Given the description of an element on the screen output the (x, y) to click on. 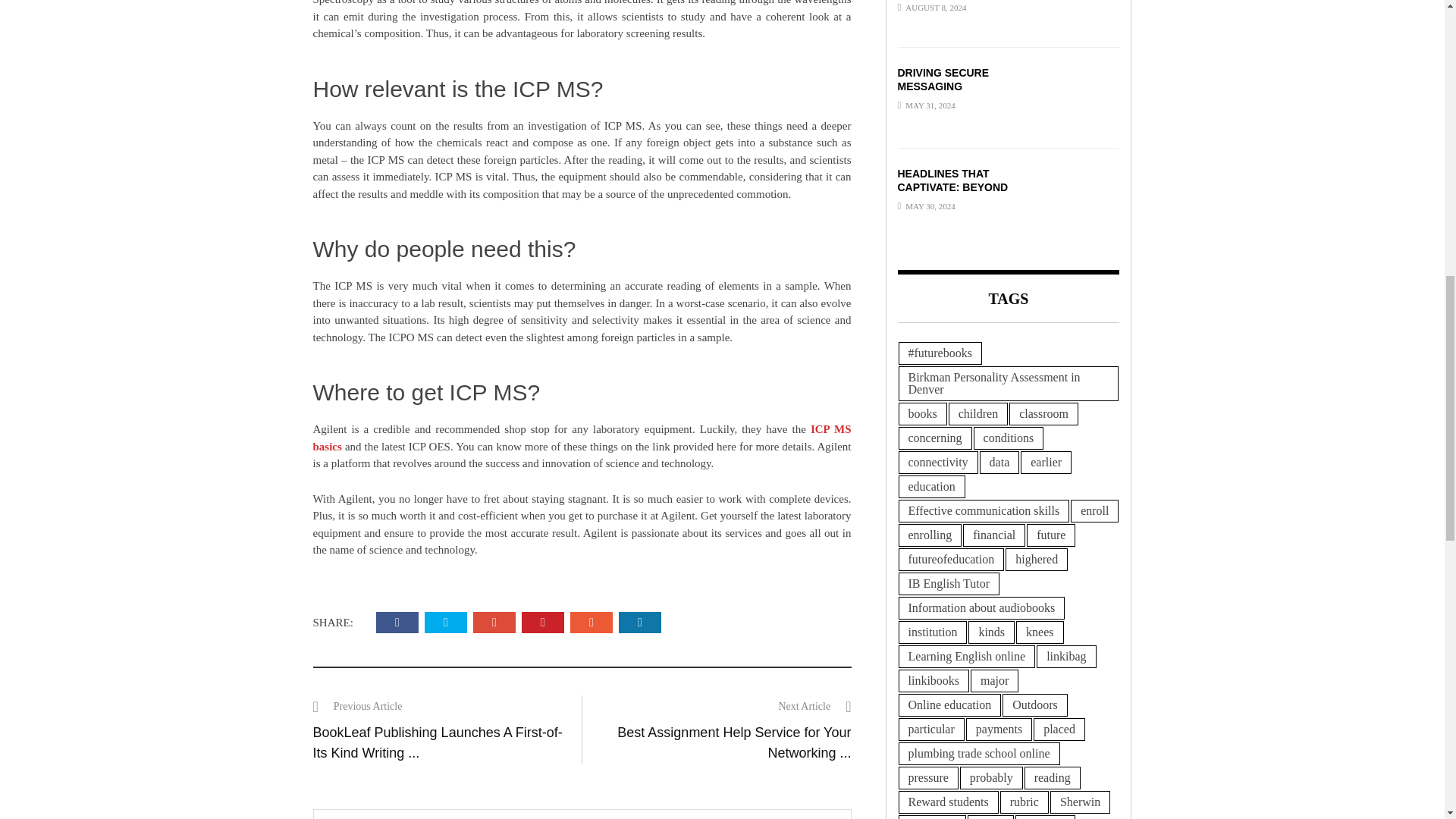
ICP MS basics (581, 437)
Best Assignment Help Service for Your Networking ... (733, 742)
BookLeaf Publishing Launches A First-of-Its Kind Writing ... (437, 742)
